Given the description of an element on the screen output the (x, y) to click on. 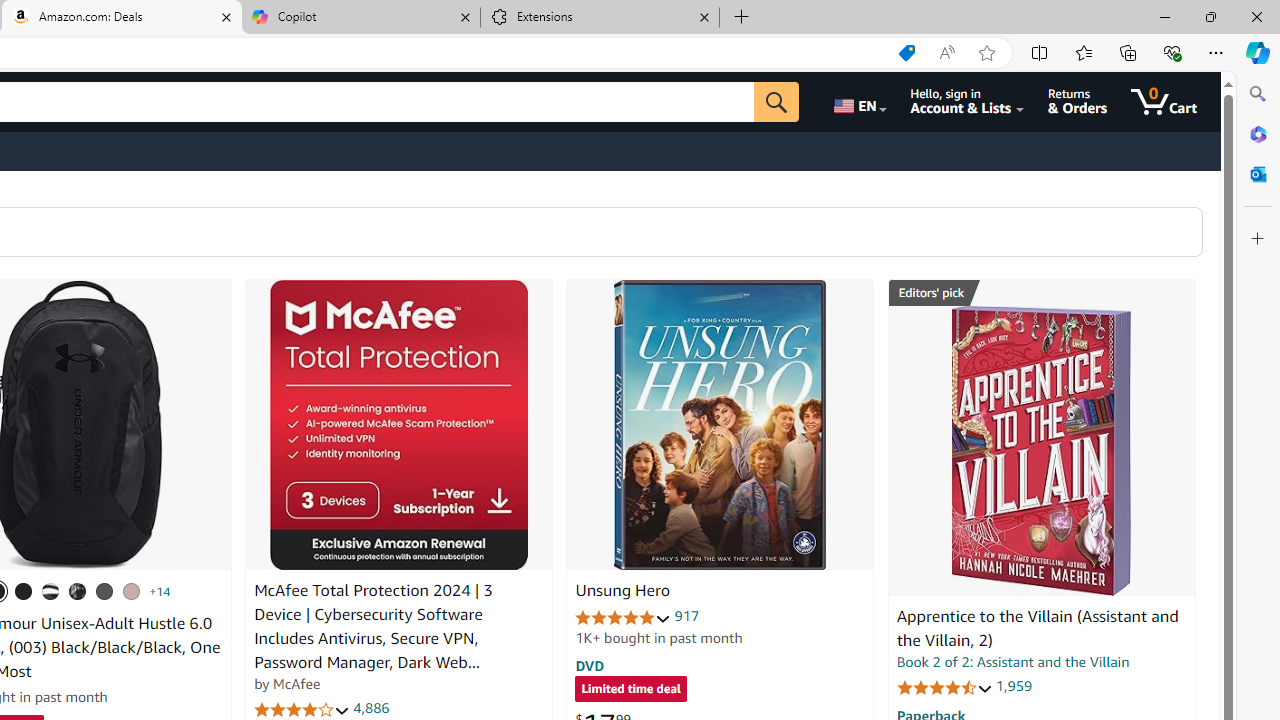
(015) Tetra Gray / Tetra Gray / Gray Matter (131, 591)
